Given the description of an element on the screen output the (x, y) to click on. 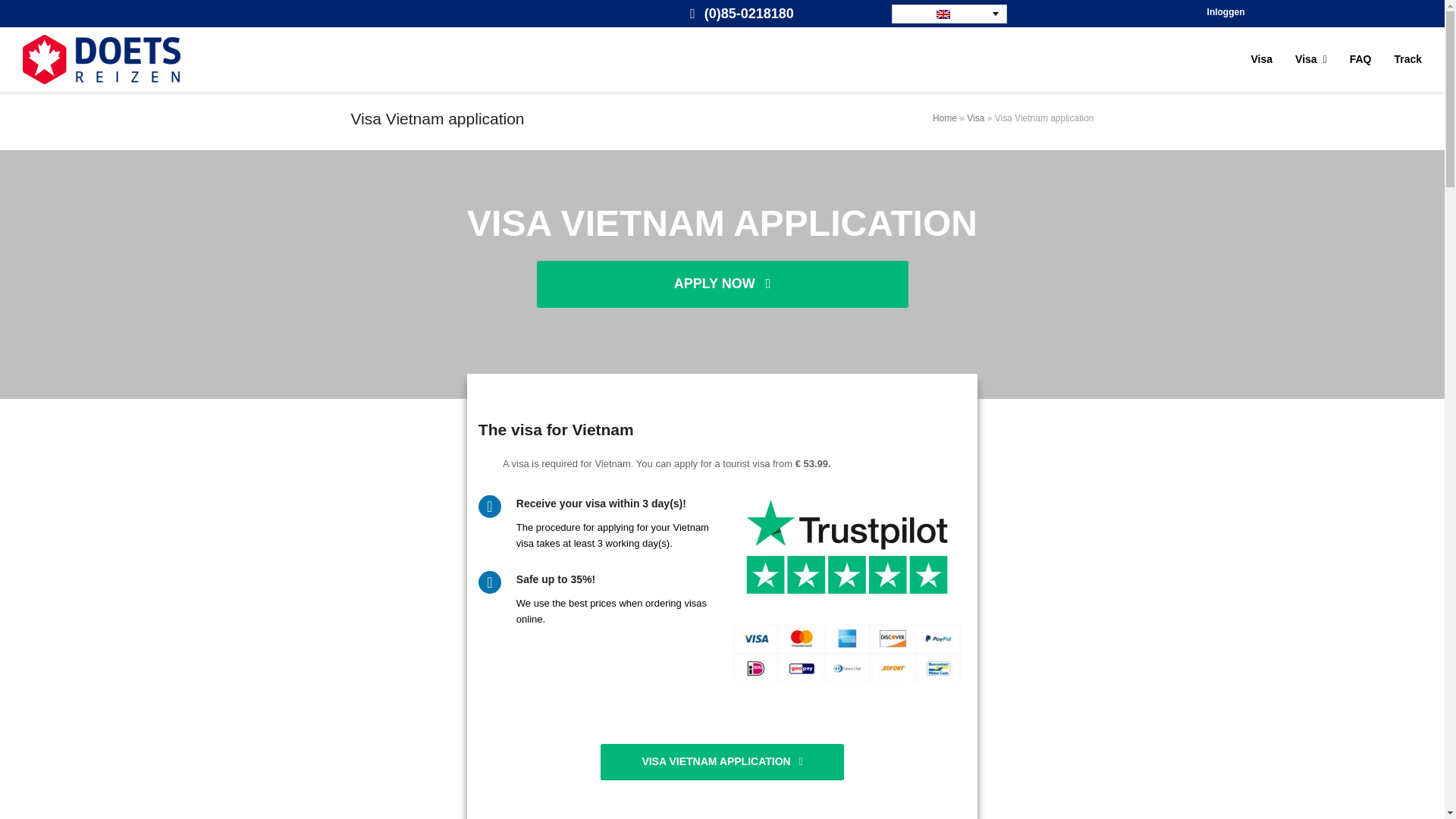
Visa (1262, 59)
FAQ (722, 59)
Track (1360, 59)
Inloggen (1406, 59)
Visa (1225, 11)
